Given the description of an element on the screen output the (x, y) to click on. 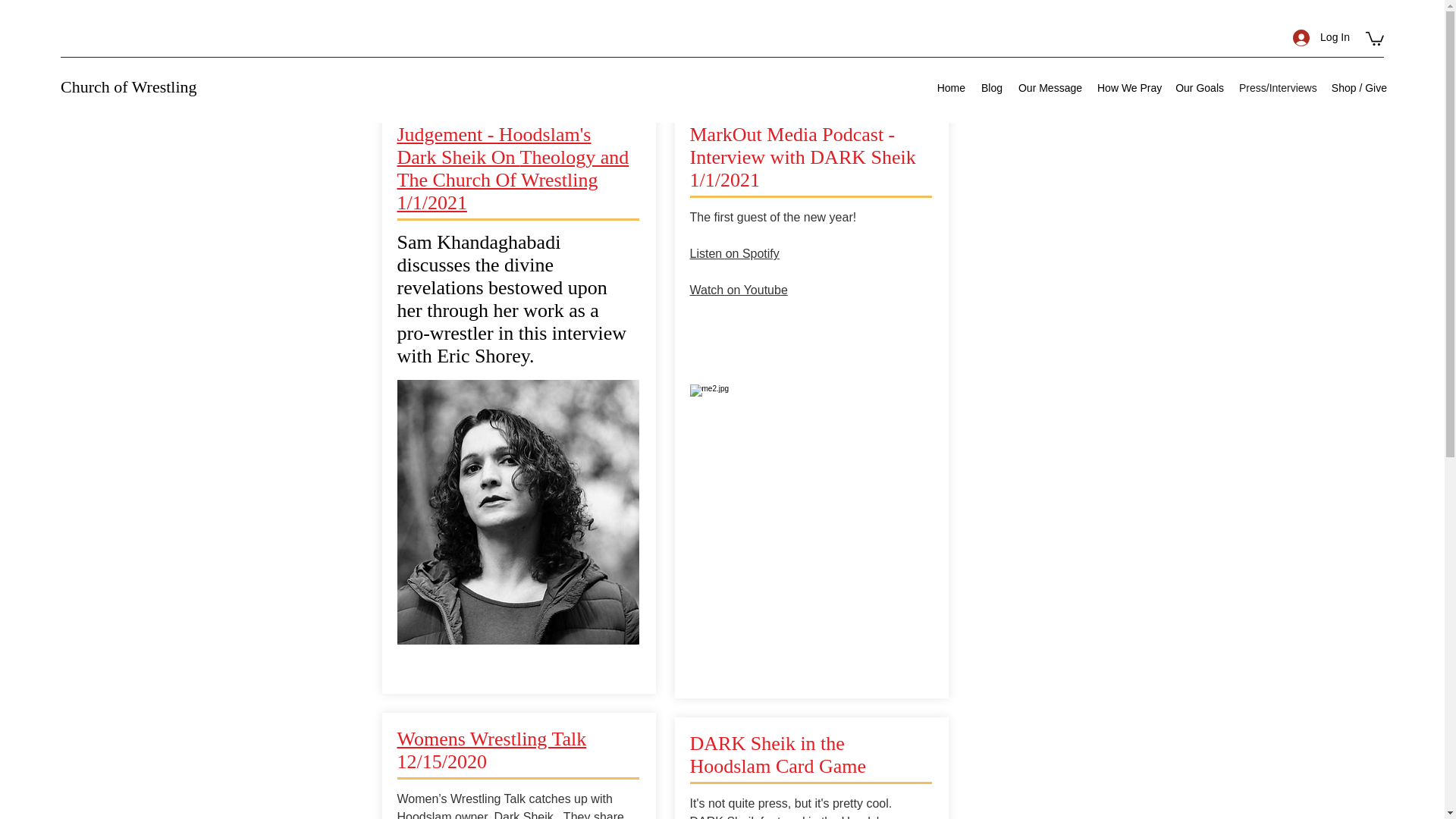
Log In (1320, 37)
Our Message (1049, 87)
Womens Wrestling Talk (491, 739)
Watch on Youtube (738, 289)
Our Goals (1199, 87)
How We Pray (1128, 87)
Listen on Spotify (734, 253)
Home (950, 87)
Blog (991, 87)
Church of Wrestling (128, 86)
